Given the description of an element on the screen output the (x, y) to click on. 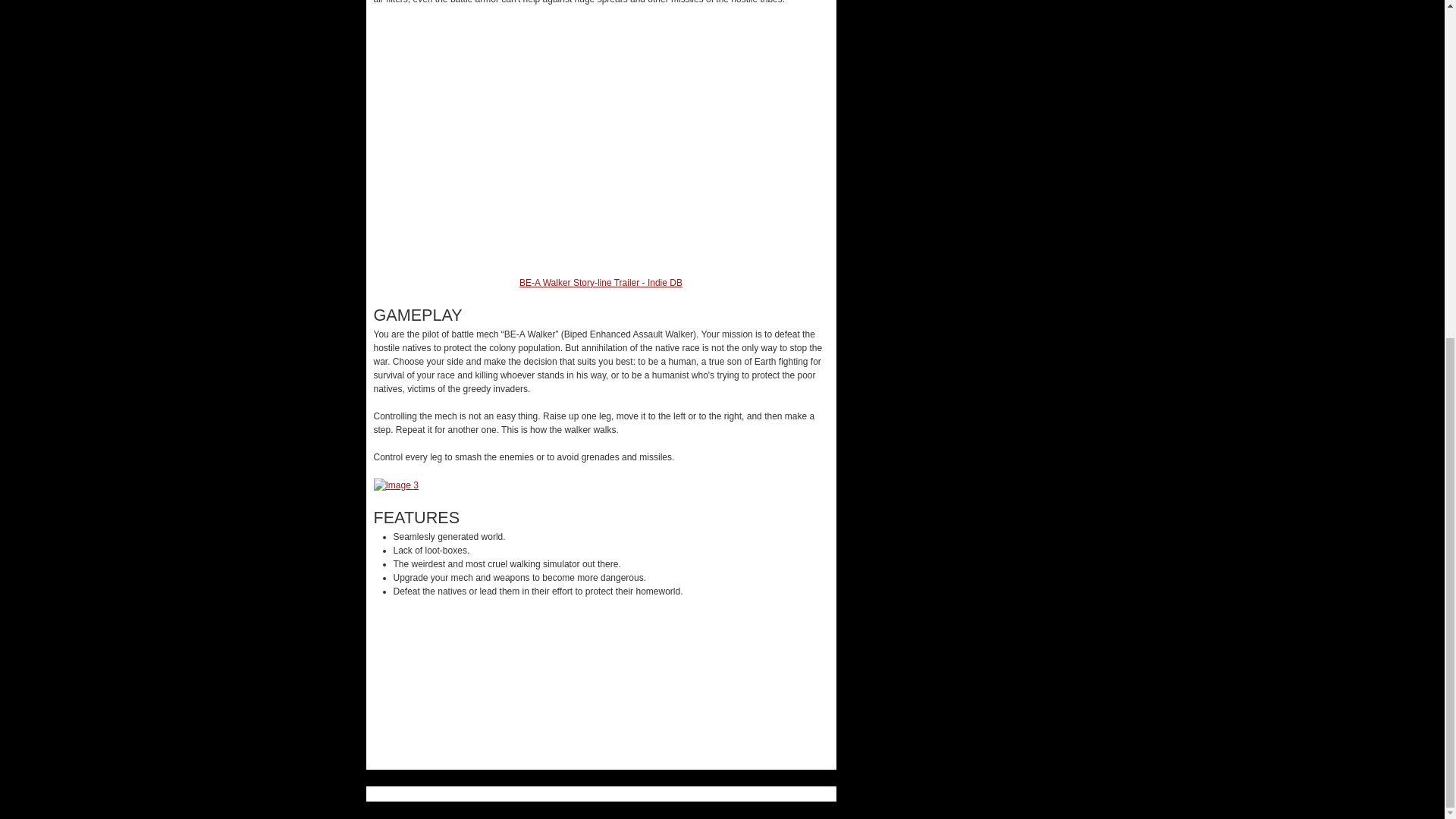
Image 3 - Indie DB (394, 484)
